Given the description of an element on the screen output the (x, y) to click on. 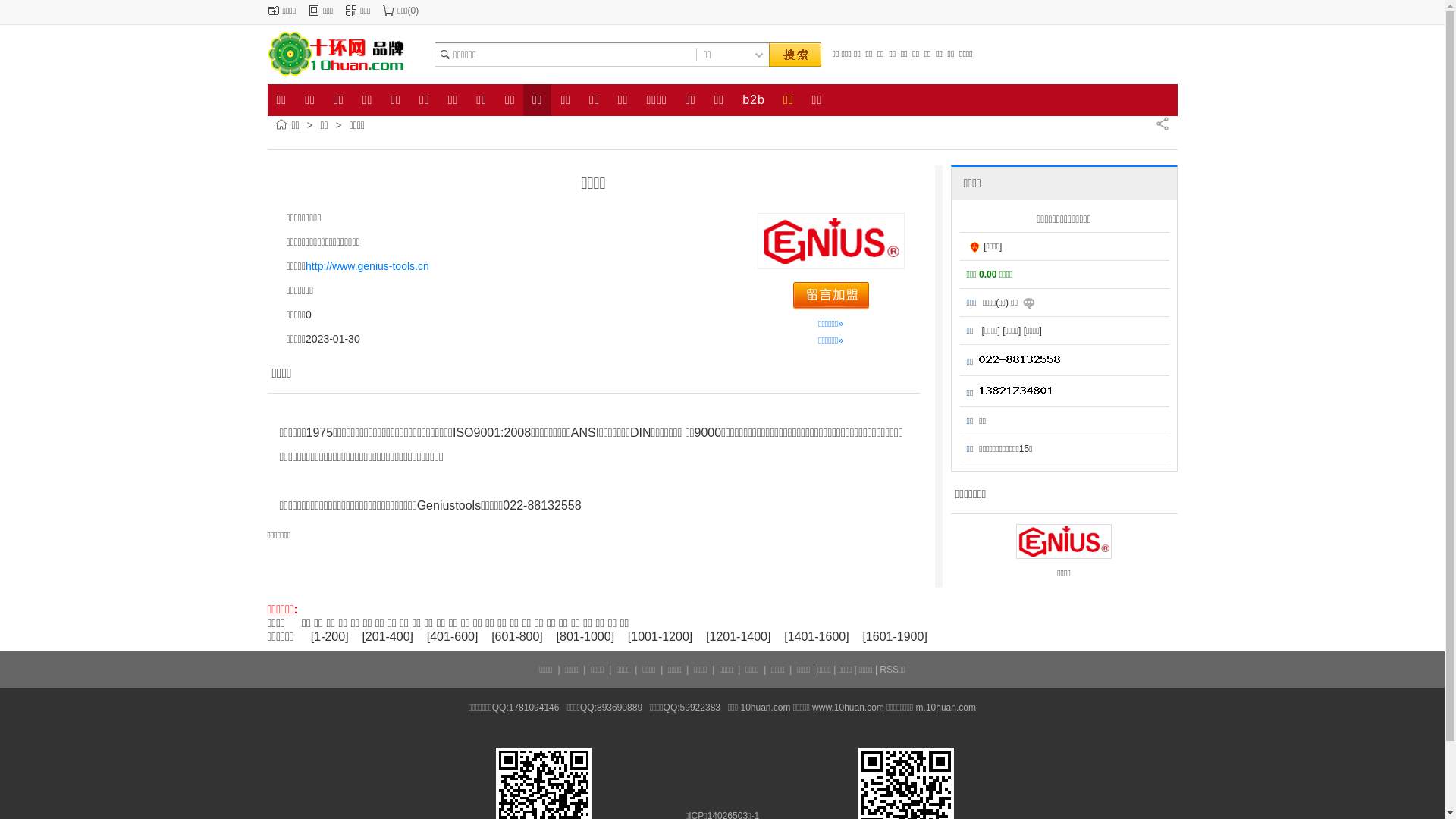
401-600 Element type: text (451, 636)
m.10huan.com Element type: text (945, 707)
1001-1200 Element type: text (659, 636)
1601-1900 Element type: text (895, 636)
1201-1400 Element type: text (738, 636)
  Element type: text (793, 54)
b2b Element type: text (753, 100)
1401-1600 Element type: text (816, 636)
http://www.genius-tools.cn Element type: text (367, 266)
www.10huan.com Element type: text (848, 707)
10huan.com Element type: text (765, 707)
601-800 Element type: text (517, 636)
1-200 Element type: text (329, 636)
801-1000 Element type: text (585, 636)
201-400 Element type: text (387, 636)
